Given the description of an element on the screen output the (x, y) to click on. 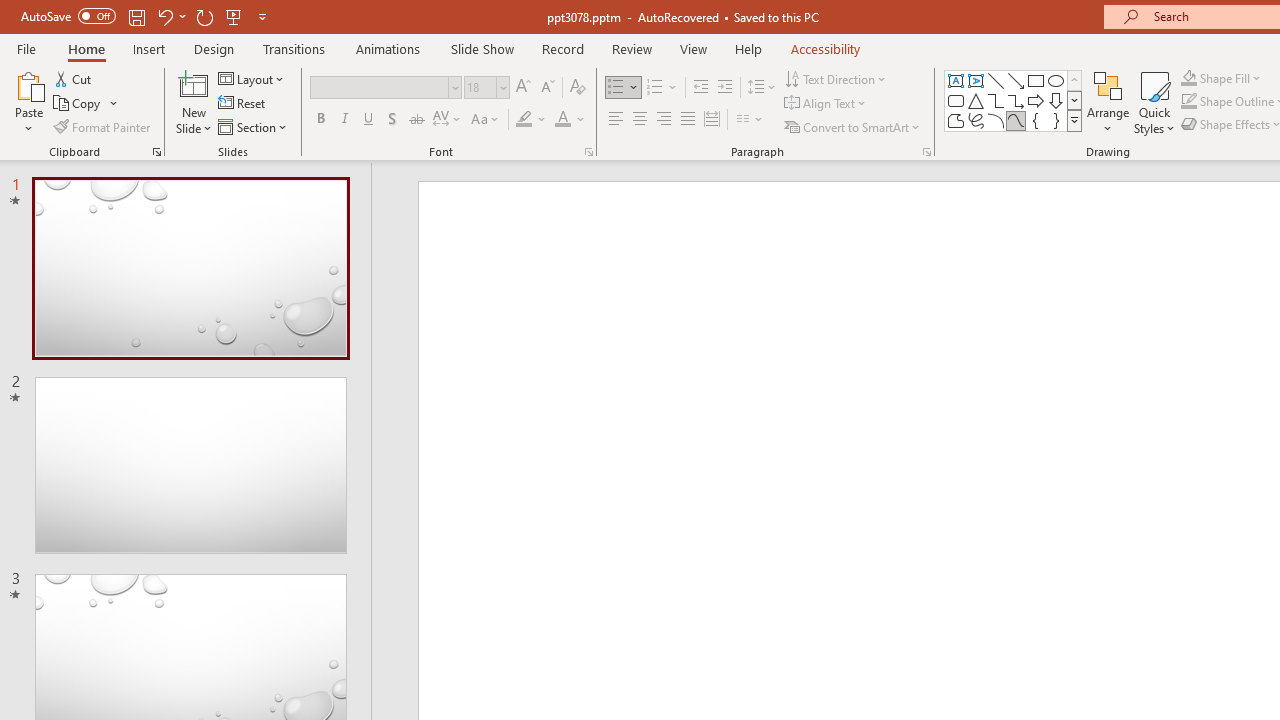
Underline (369, 119)
Oval (1055, 80)
Rectangle: Rounded Corners (955, 100)
Shape Fill (1221, 78)
Bullets (623, 87)
Bold (320, 119)
Slide (190, 465)
Arrow: Down (1055, 100)
Vertical Text Box (975, 80)
Distributed (712, 119)
Shape Fill Dark Green, Accent 2 (1188, 78)
Row up (1074, 79)
Shadow (392, 119)
Decrease Indent (700, 87)
